Given the description of an element on the screen output the (x, y) to click on. 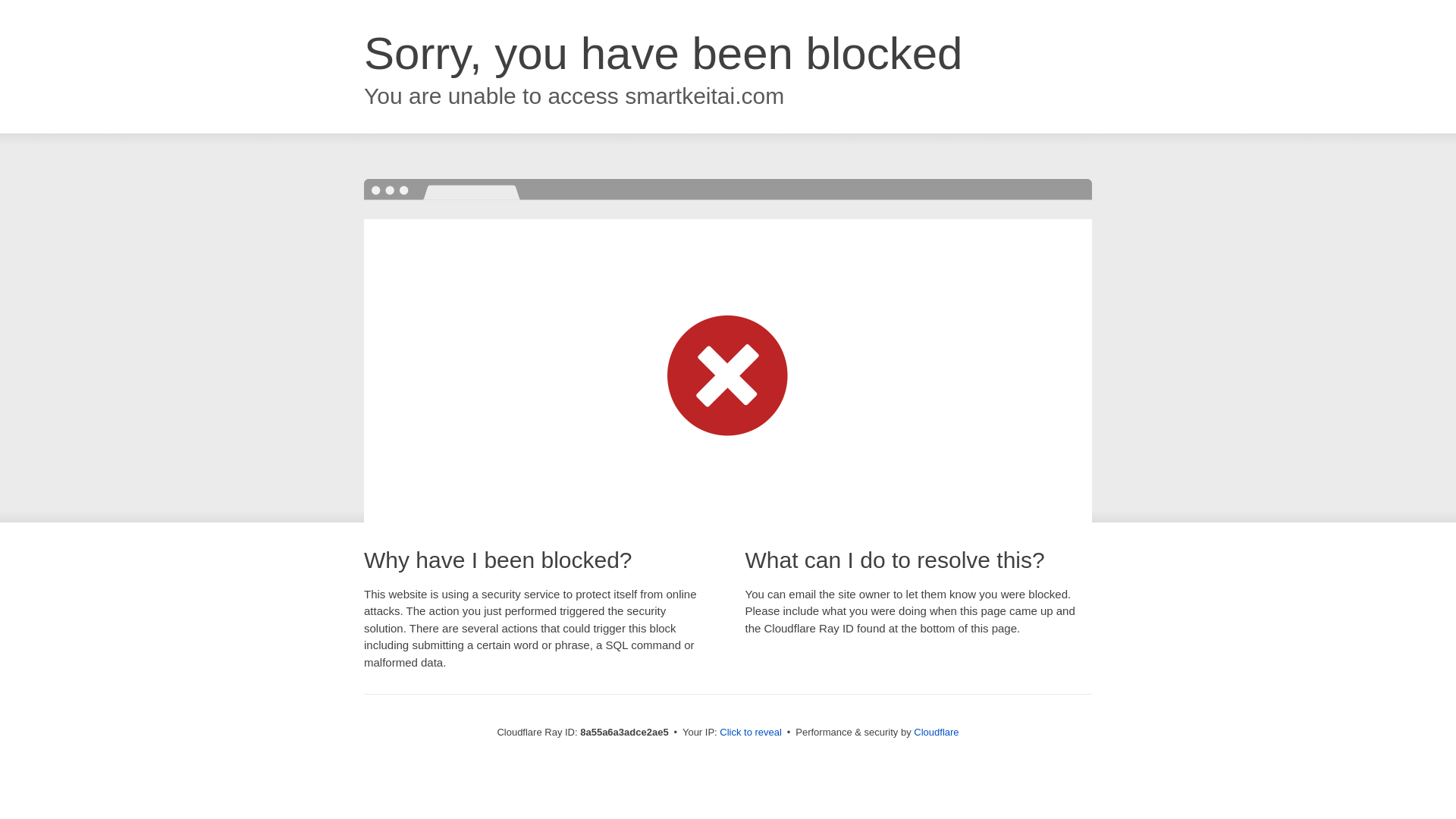
Cloudflare (936, 731)
Click to reveal (750, 732)
